Given the description of an element on the screen output the (x, y) to click on. 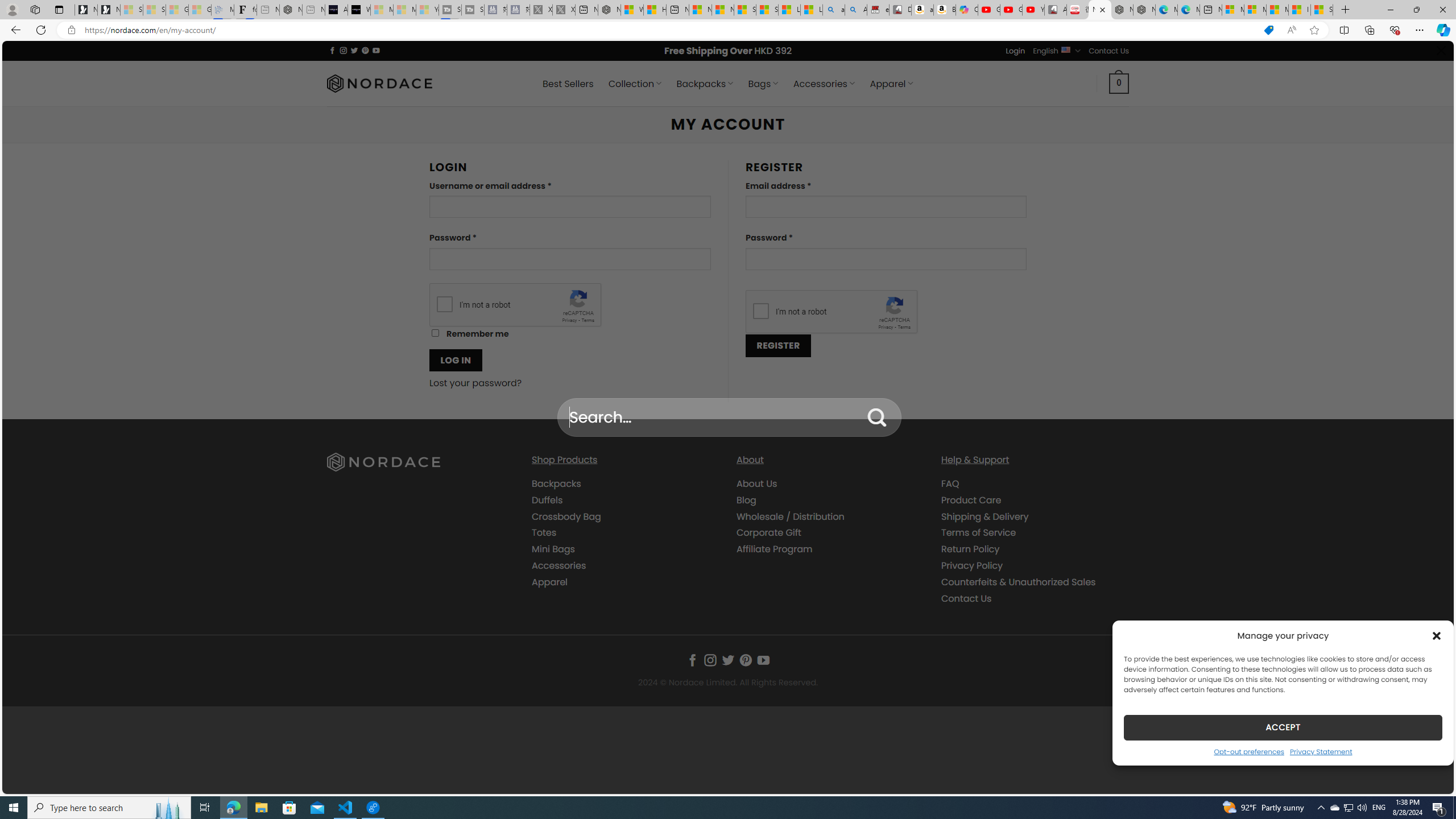
Wholesale / Distribution (790, 516)
Duffels (547, 499)
About Us (756, 483)
Privacy Policy (971, 565)
Remember me (434, 333)
Contact Us (1034, 598)
 Best Sellers (568, 83)
Gloom - YouTube (1010, 9)
  Best Sellers (568, 83)
Privacy Statement (1321, 750)
